Given the description of an element on the screen output the (x, y) to click on. 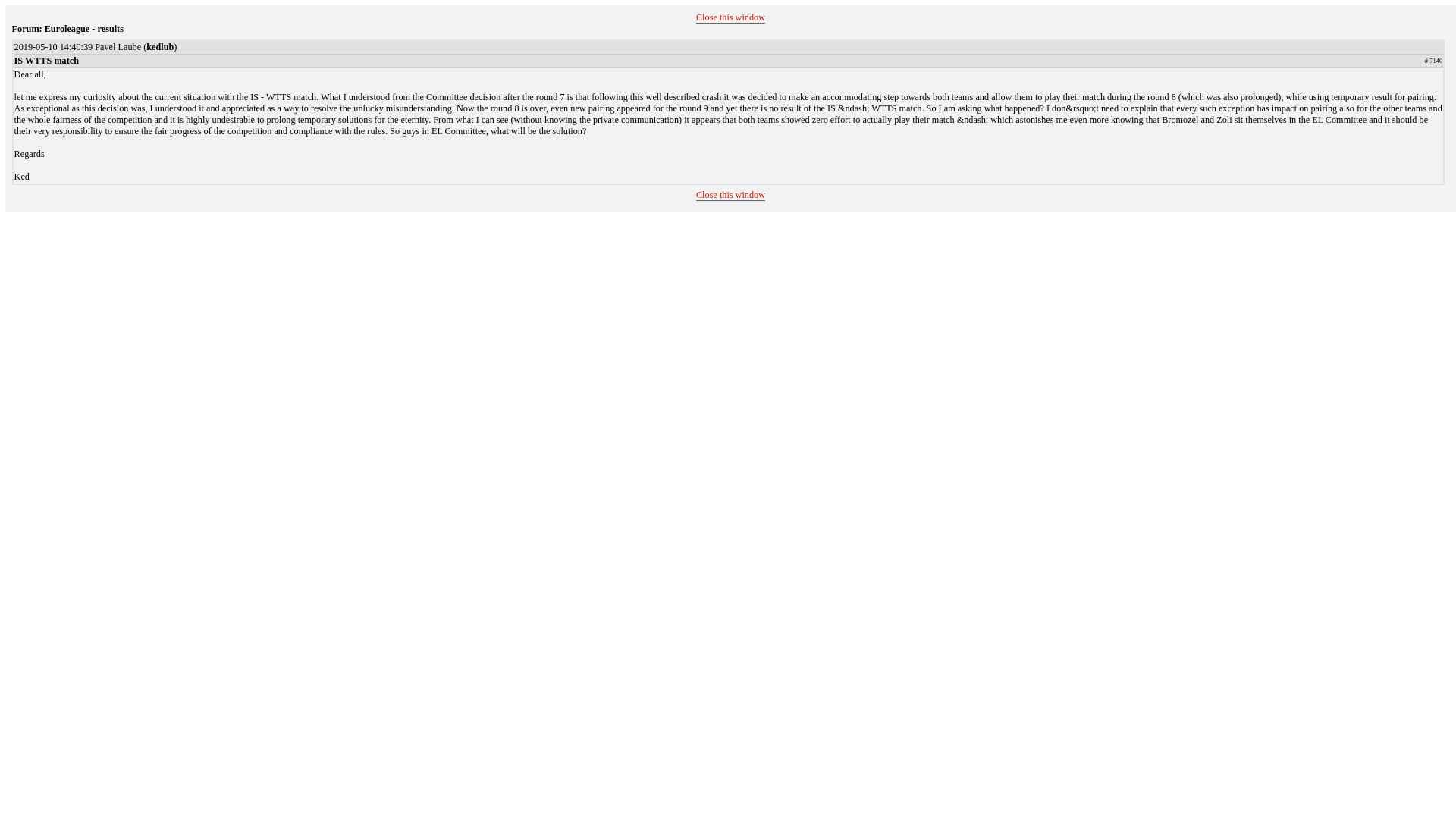
Close this window (730, 17)
Close this window (730, 194)
